Given the description of an element on the screen output the (x, y) to click on. 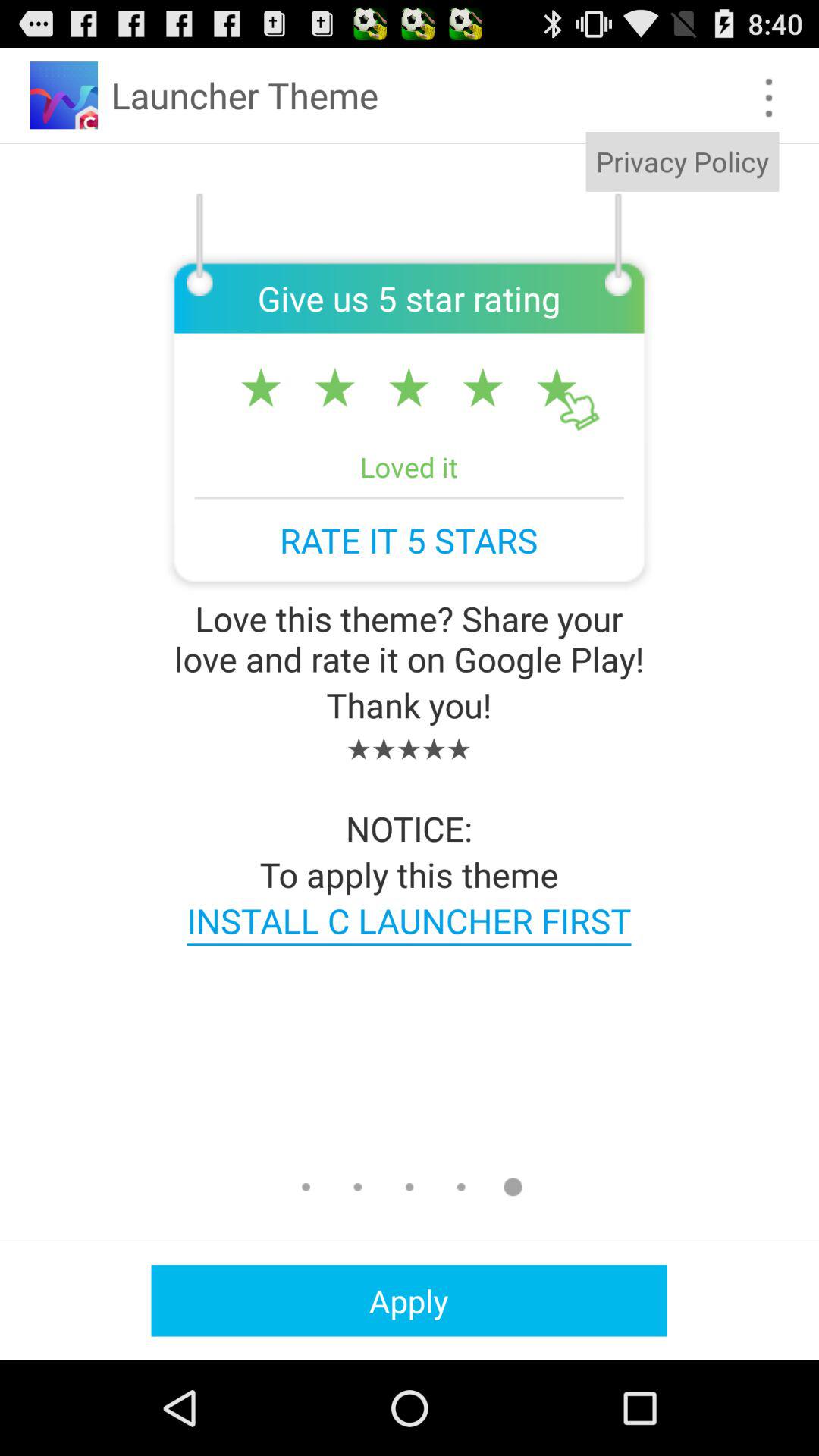
flip until install c launcher item (409, 920)
